Given the description of an element on the screen output the (x, y) to click on. 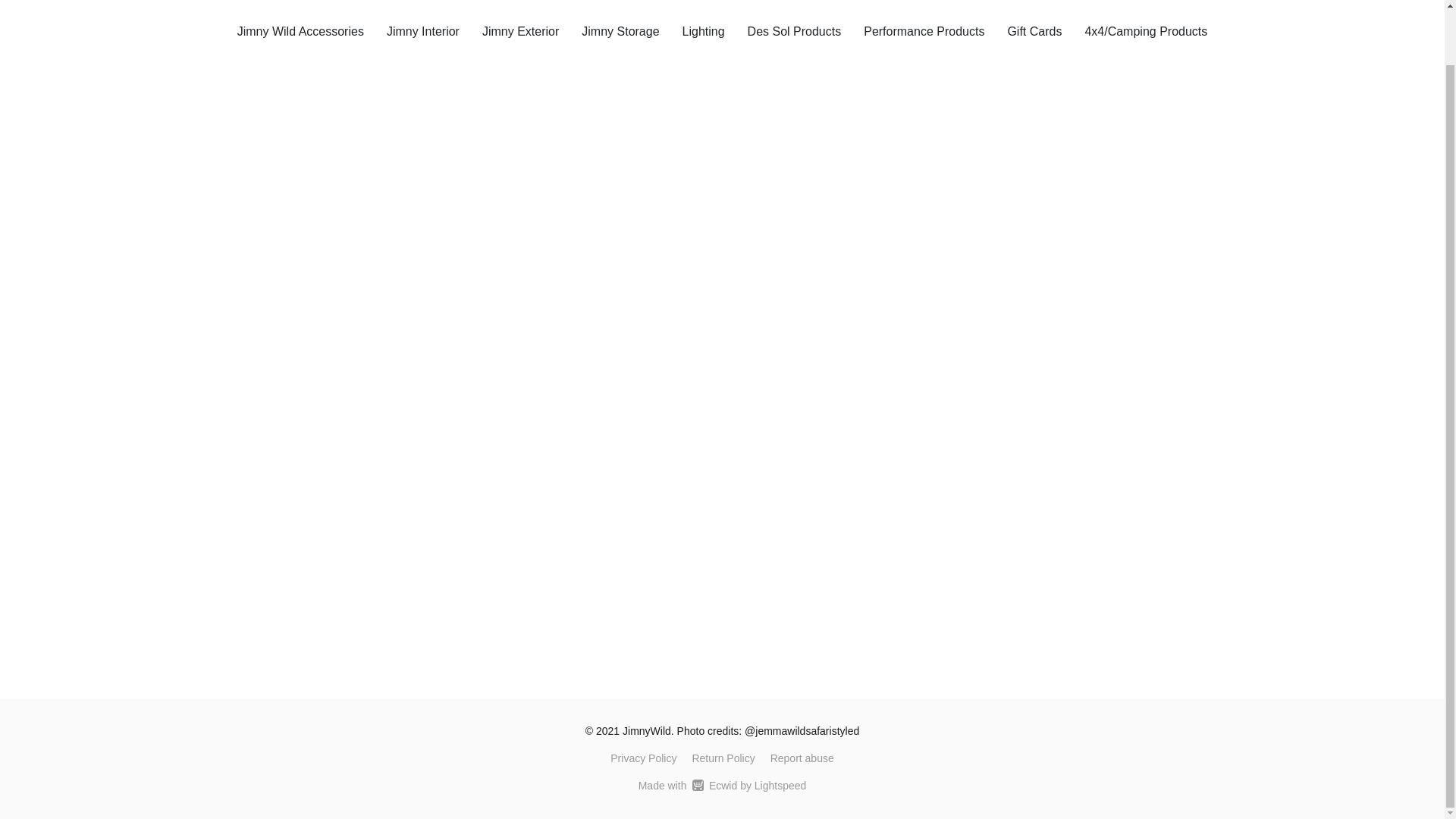
Jimny Storage (619, 31)
Jimny Interior (422, 31)
Jimny Exterior (520, 31)
Report abuse (802, 758)
Gift Cards (1034, 31)
Des Sol Products (794, 31)
Privacy Policy (643, 758)
Performance Products (923, 31)
Return Policy (722, 758)
